Given the description of an element on the screen output the (x, y) to click on. 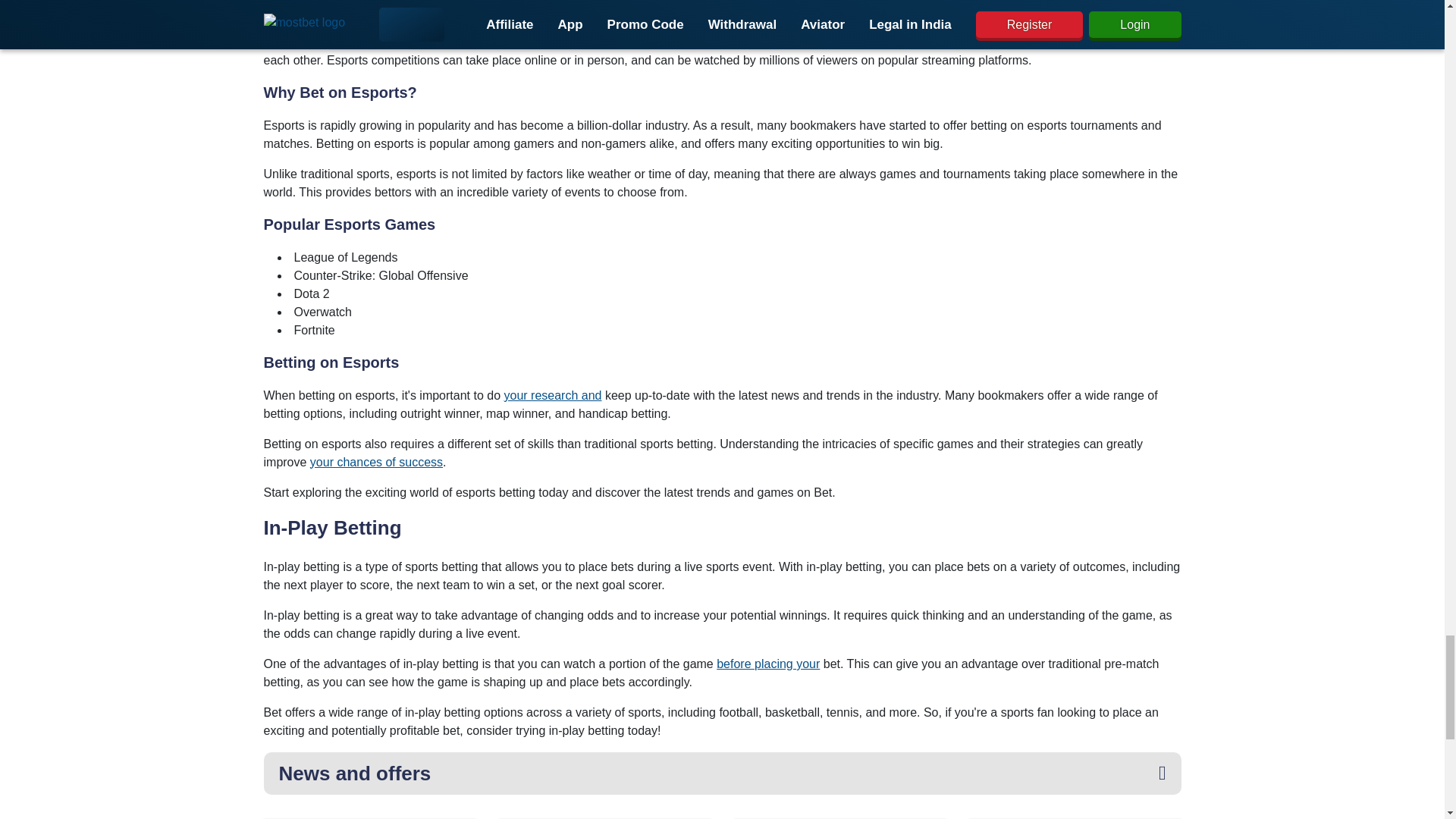
your research and (552, 395)
your chances of success (376, 461)
before placing your (767, 663)
